Given the description of an element on the screen output the (x, y) to click on. 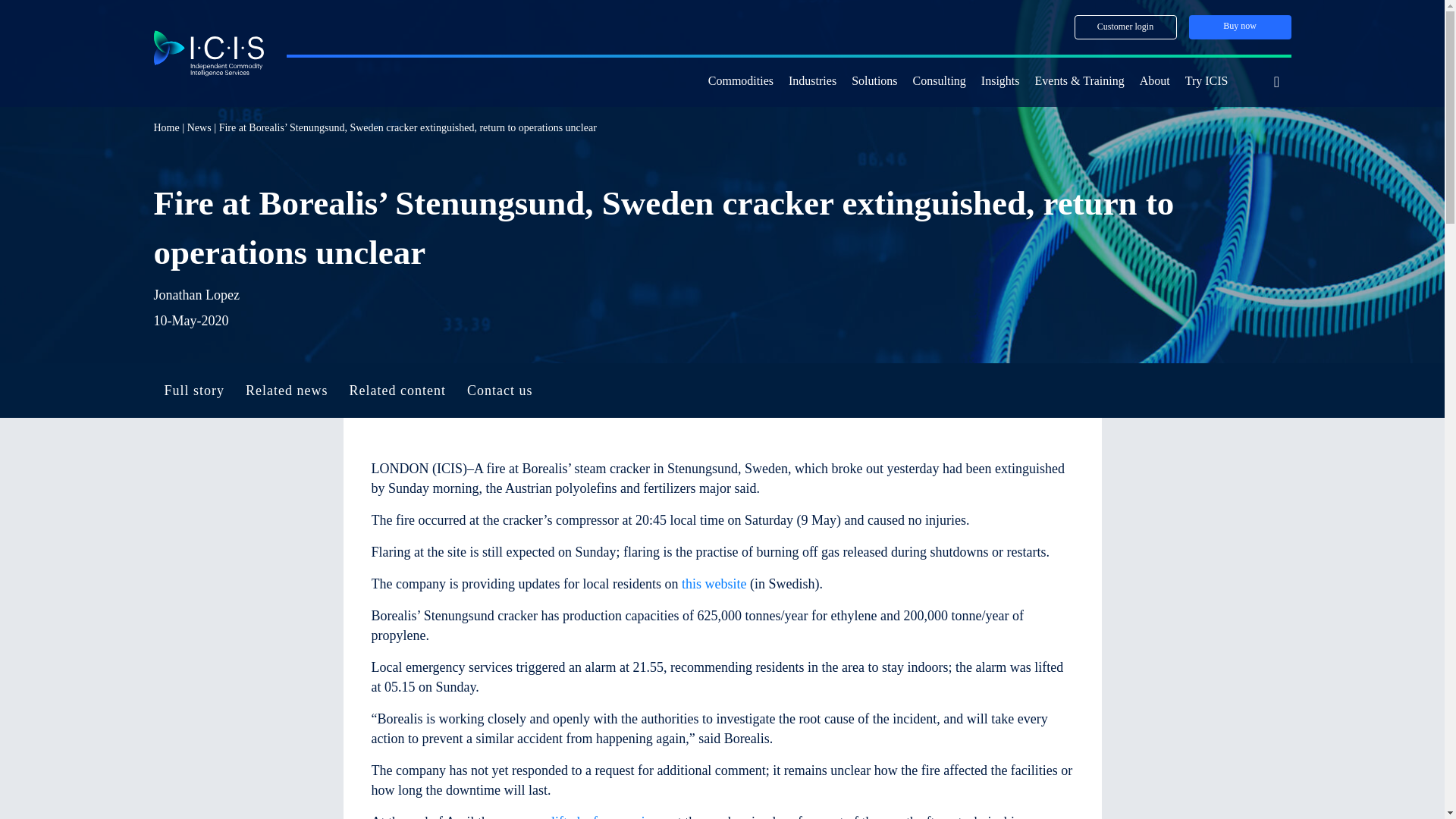
Solutions (873, 82)
Customer login (1125, 27)
Customer login (1125, 27)
Industries (812, 82)
Commodities (740, 82)
Buy now (1240, 27)
Industries (812, 82)
Consulting (939, 82)
Commodities (740, 82)
Buy now (1240, 27)
